Given the description of an element on the screen output the (x, y) to click on. 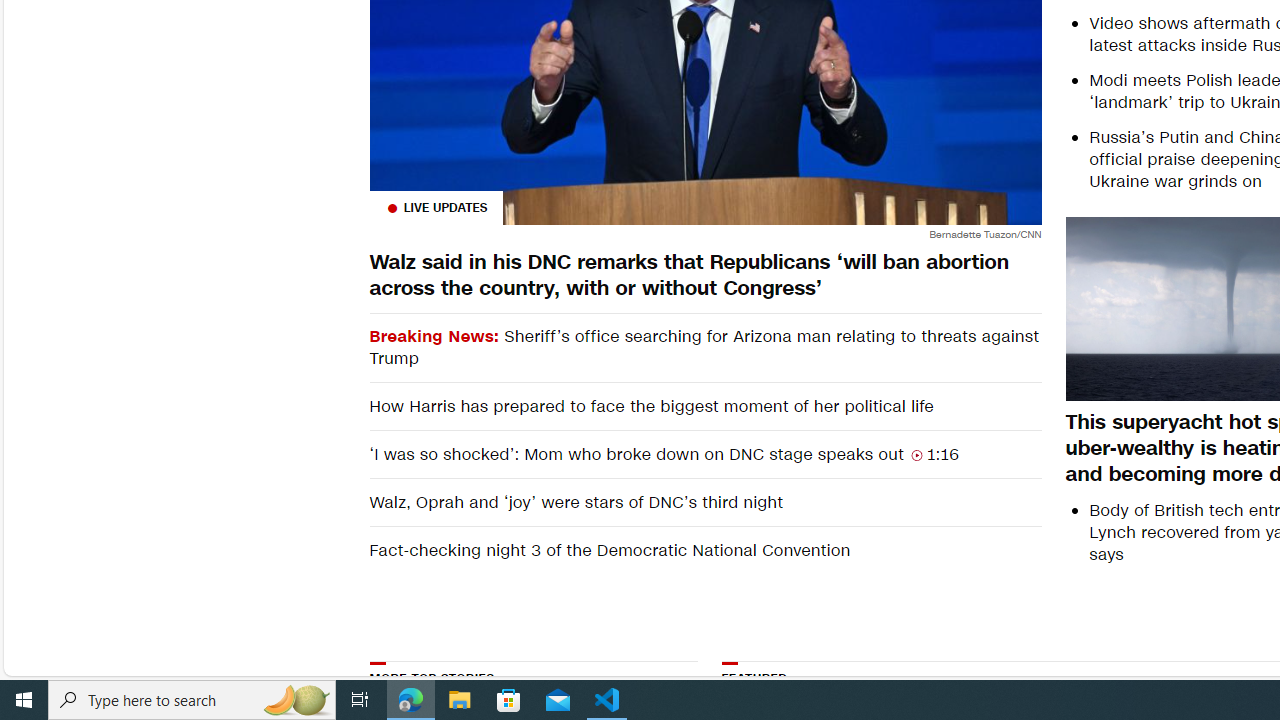
Fact-checking night 3 of the Democratic National Convention (704, 550)
Class: container__video-duration-icon (916, 454)
